Given the description of an element on the screen output the (x, y) to click on. 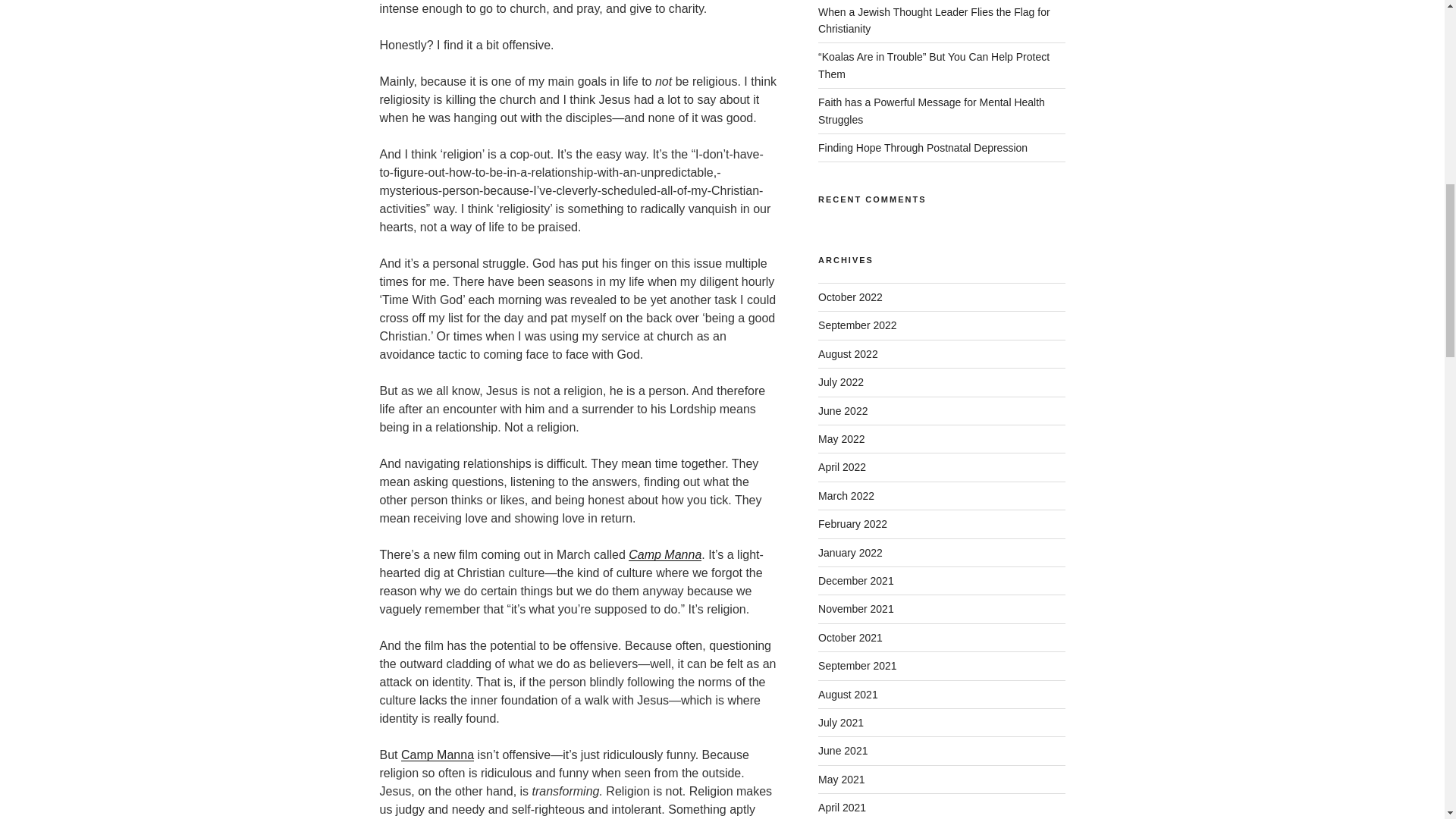
July 2021 (840, 722)
February 2022 (852, 523)
January 2022 (850, 552)
Camp Manna (664, 554)
August 2021 (847, 694)
May 2022 (841, 439)
When a Jewish Thought Leader Flies the Flag for Christianity (933, 20)
September 2022 (857, 325)
June 2022 (842, 410)
October 2021 (850, 637)
